Given the description of an element on the screen output the (x, y) to click on. 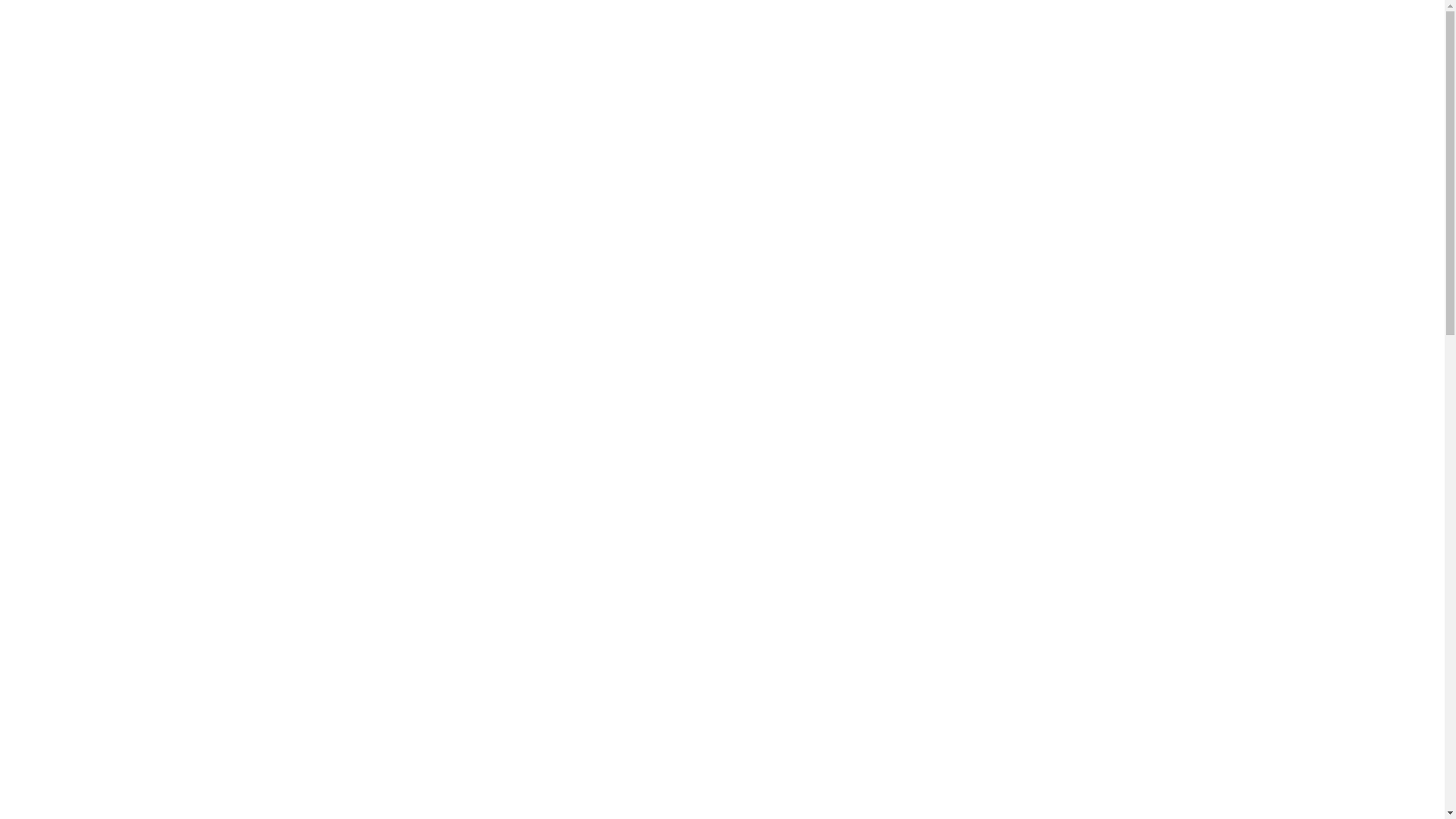
Search Element type: text (1161, 135)
Hip Pain SOS: Tips for Quick Relief and Long-Term Recovery Element type: text (1061, 389)
Revolutionary Brainwave Recording Eliminates Pain Instantly Element type: text (1060, 460)
121 Healthcare Element type: text (318, 26)
Break Free From Anxiety: a Life-Changing Journey Element type: text (1038, 487)
Conquering Dental Disease: A Path to Oral Health Element type: text (1035, 558)
Frozen Shoulder Demystified: Causes, Symptoms, and Solutions Element type: text (1044, 354)
Revolutionary Six Steps Method: Conquer Insomnia Now Element type: text (1051, 248)
Search Element type: text (1170, 58)
Search Element type: hover (1195, 26)
Revolutionary Program Ends Excessive Drinking for Good Element type: text (1053, 221)
Brainwave Stimulation: The Key to Calming Hyperactivity Element type: text (1053, 276)
yeast infections Element type: text (460, 273)
